Given the description of an element on the screen output the (x, y) to click on. 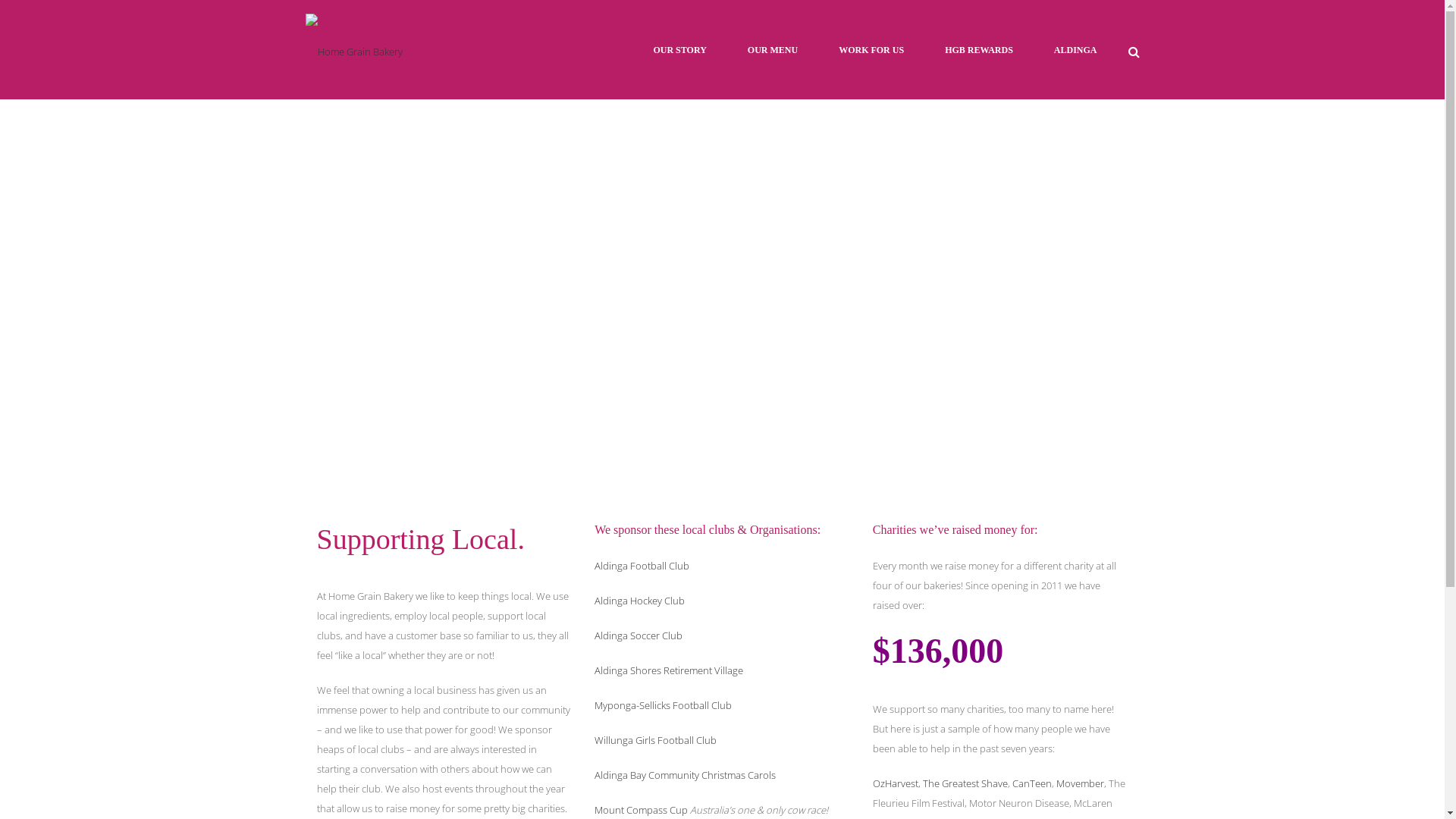
OUR STORY Element type: text (678, 49)
Aldinga Hockey Club Element type: text (639, 600)
Mount Compass Cup Element type: text (640, 809)
Aldinga Bay Community Christmas Carols Element type: text (684, 774)
Aldinga Football Club Element type: text (641, 565)
Myponga-Sellicks Football Club Element type: text (662, 705)
Home Grain Bakery Element type: hover (352, 49)
OzHarvest Element type: text (895, 783)
HGB REWARDS Element type: text (978, 49)
The Greatest Shave Element type: text (964, 783)
Movember Element type: text (1080, 783)
WORK FOR US Element type: text (870, 49)
Aldinga Soccer Club Element type: text (638, 635)
OUR MENU Element type: text (772, 49)
Aldinga Shores Retirement Village Element type: text (668, 670)
Willunga Girls Football Club Element type: text (655, 739)
CanTeen Element type: text (1031, 783)
ALDINGA Element type: text (1075, 49)
